Given the description of an element on the screen output the (x, y) to click on. 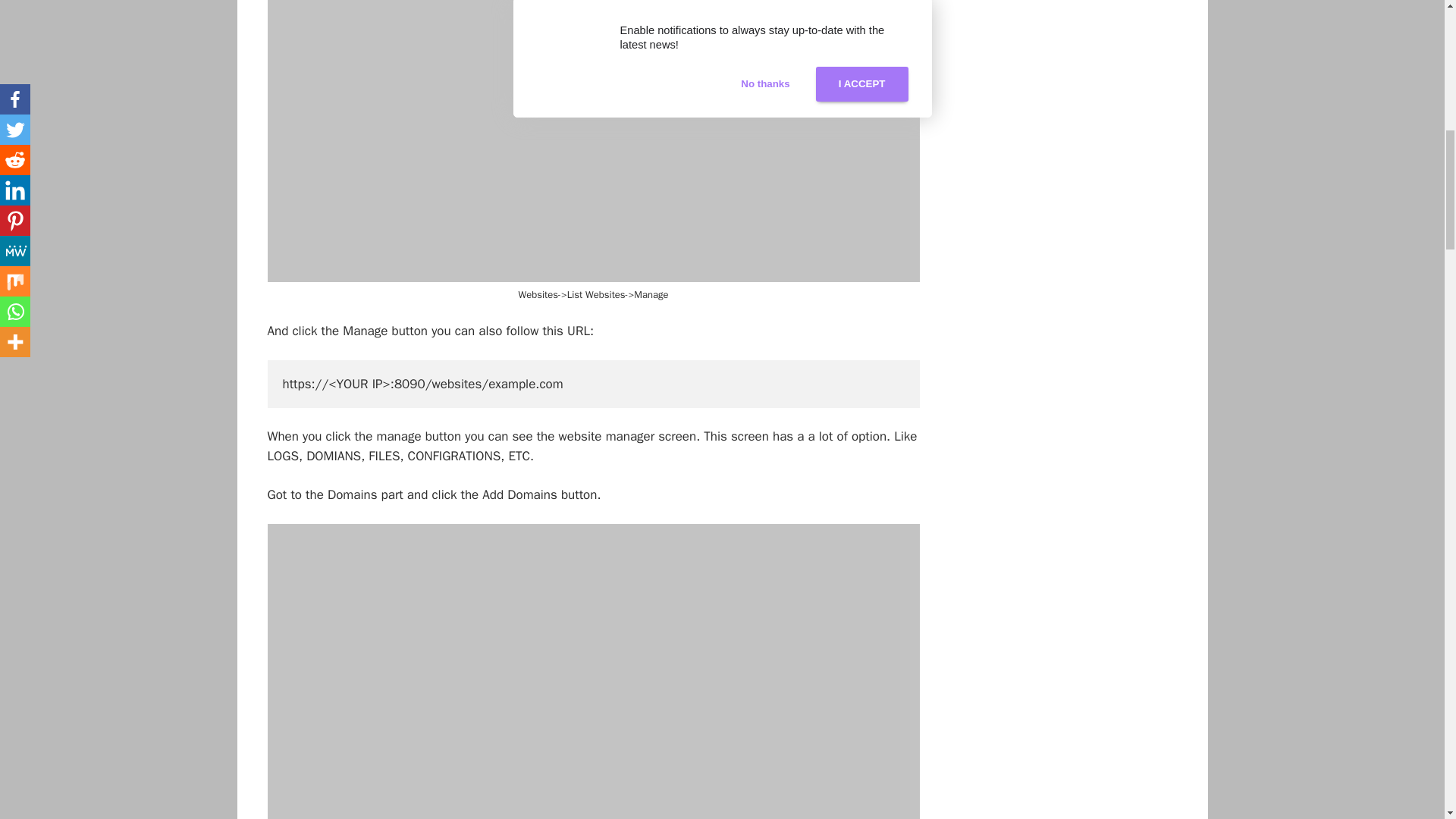
Scroll back to top (1406, 720)
